Given the description of an element on the screen output the (x, y) to click on. 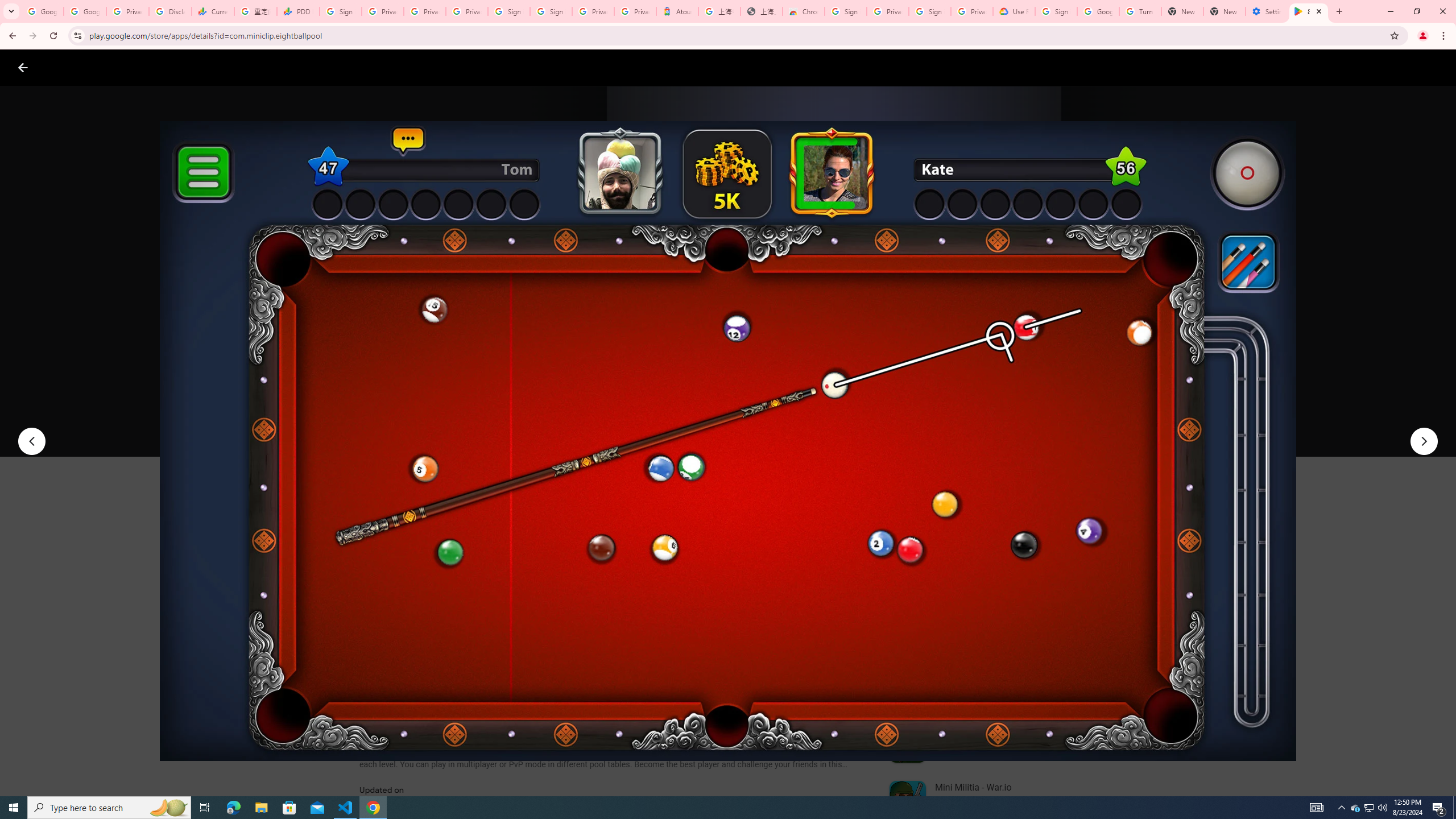
Open account menu (1436, 67)
Sign in - Google Accounts (1055, 11)
Kids (219, 67)
Next (1424, 441)
Add to wishlist (576, 422)
Google Workspace Admin Community (42, 11)
New Tab (1224, 11)
Google Account Help (1097, 11)
